Given the description of an element on the screen output the (x, y) to click on. 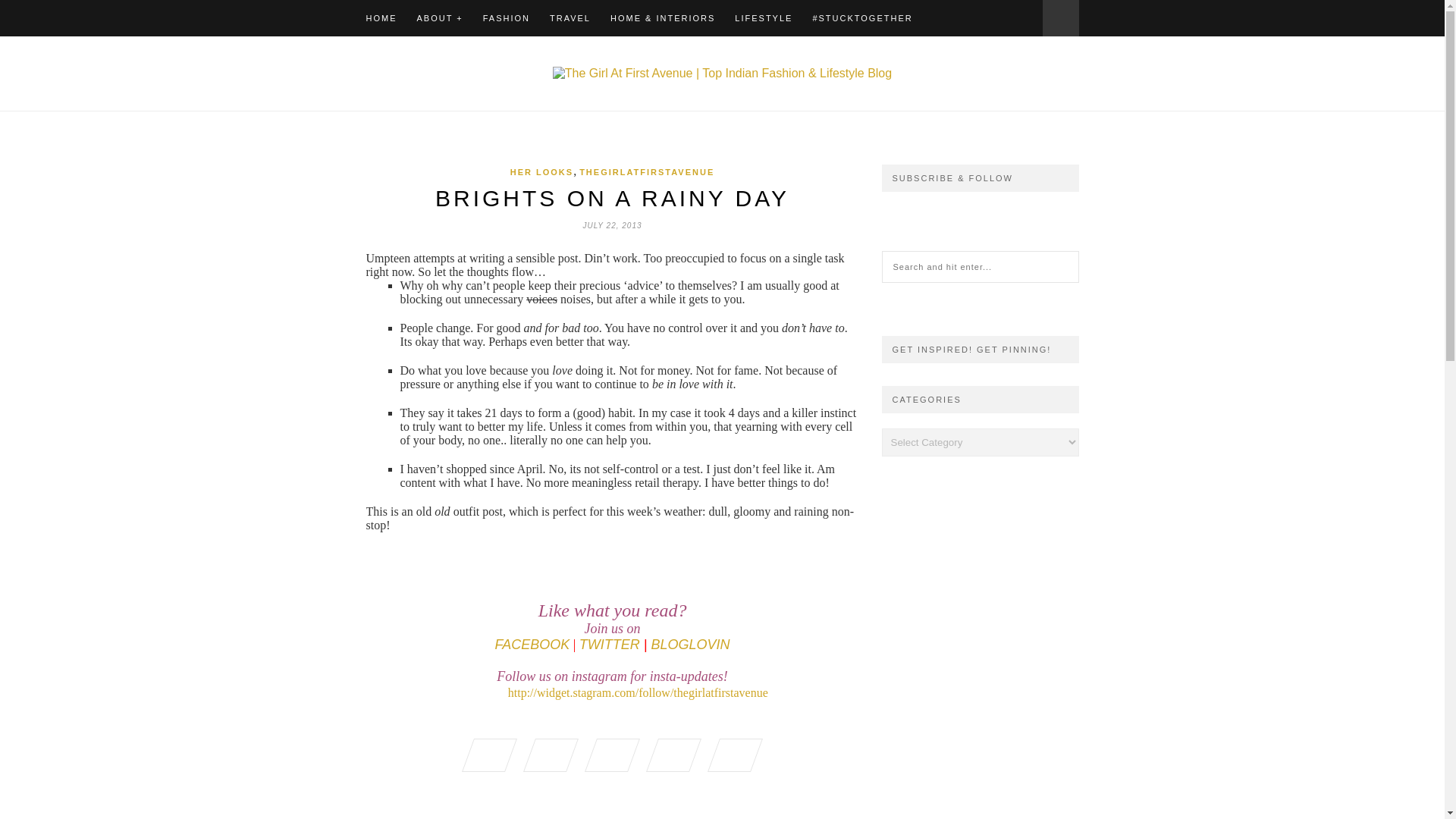
View all posts in TheGirlAtFirstAvenue (646, 171)
THEGIRLATFIRSTAVENUE (646, 171)
FACEBOOK (532, 646)
BLOGLOVIN (689, 646)
TRAVEL (570, 18)
FASHION (506, 18)
HER LOOKS (542, 171)
TWITTER (609, 646)
LIFESTYLE (763, 18)
View all posts in Her Looks (542, 171)
